Given the description of an element on the screen output the (x, y) to click on. 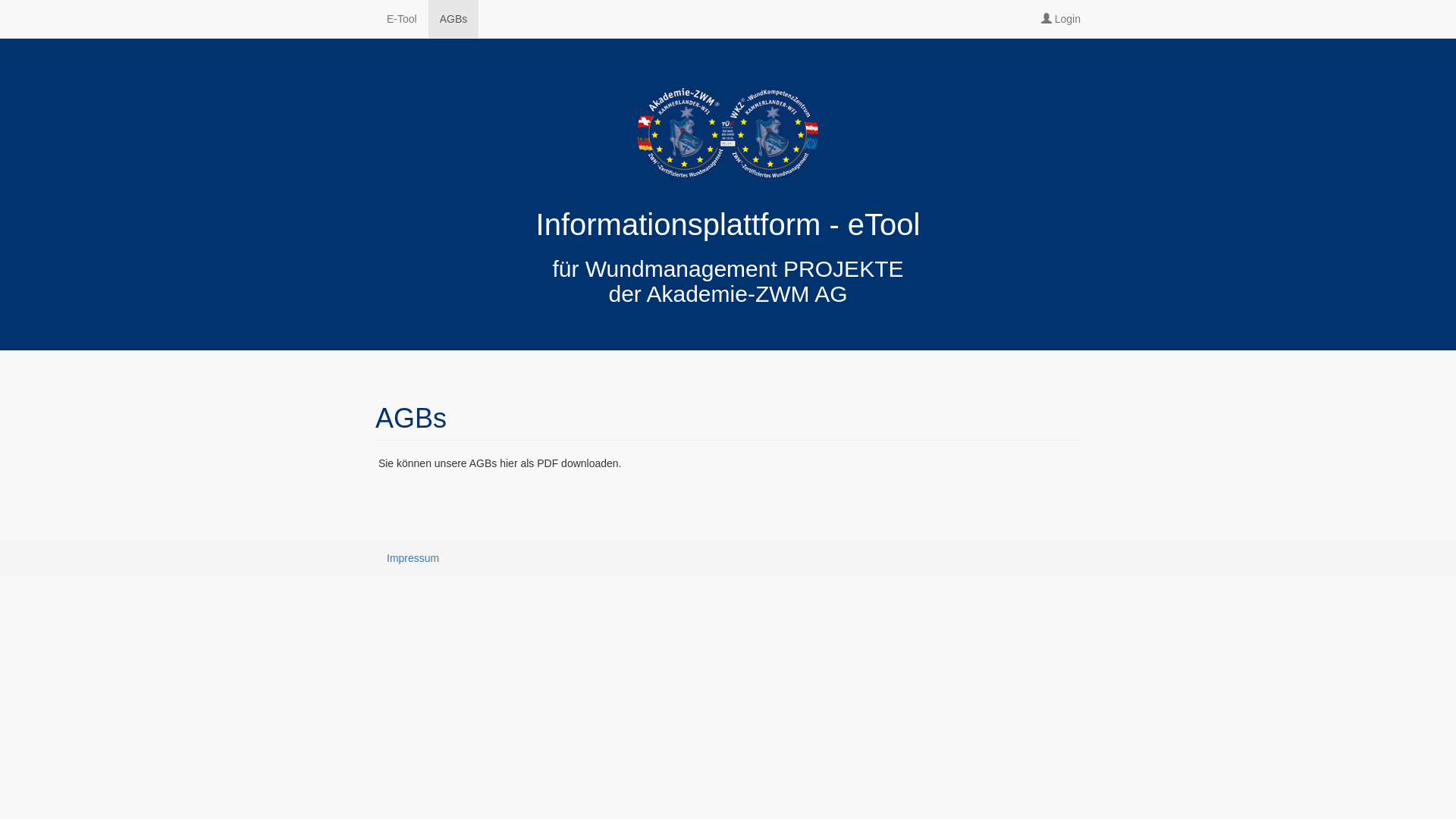
AGBs Element type: text (453, 18)
Logo Element type: hover (728, 133)
Login Element type: text (1060, 18)
E-Tool Element type: text (401, 18)
Impressum Element type: text (412, 558)
